Given the description of an element on the screen output the (x, y) to click on. 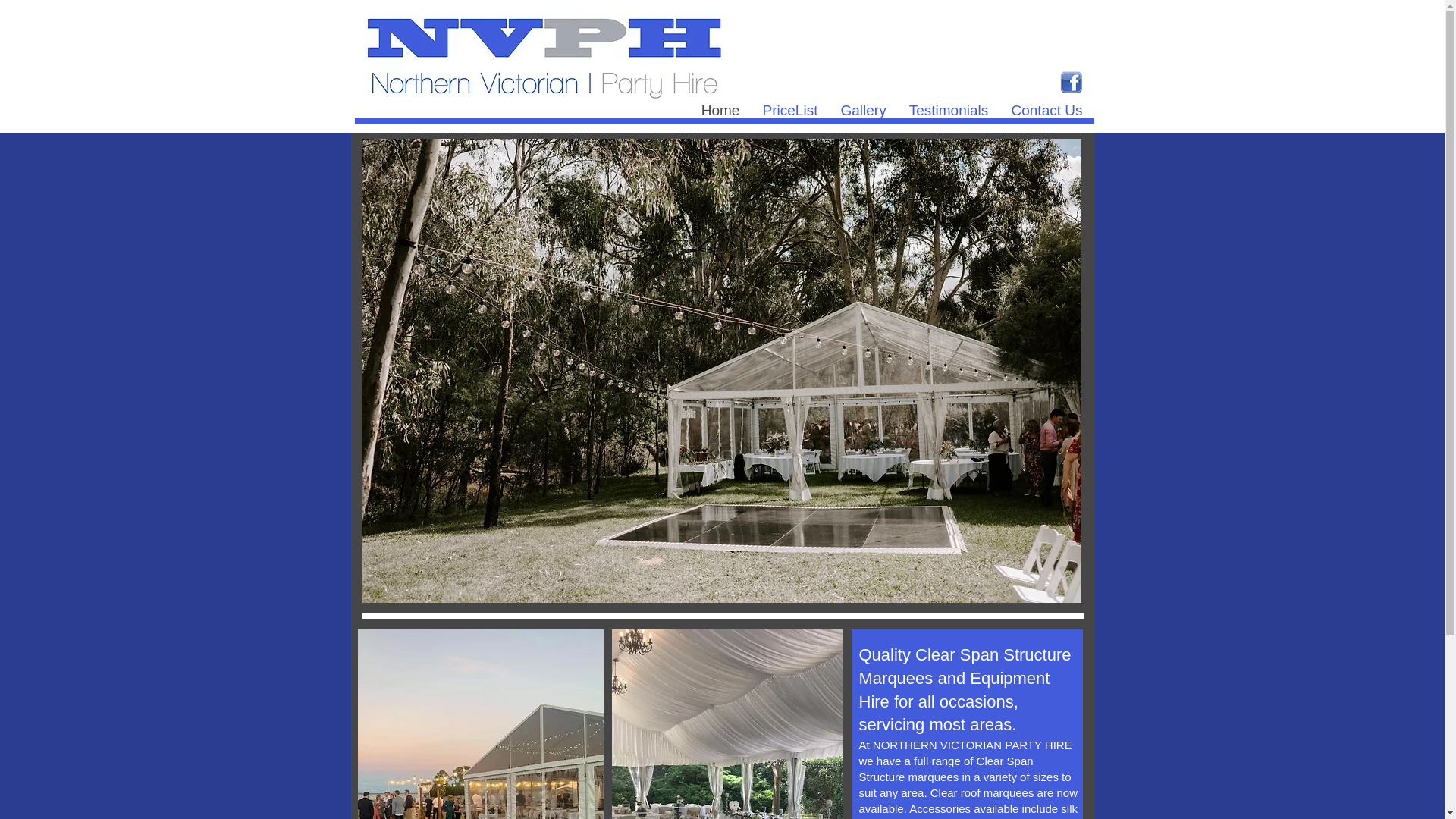
Contact Us Element type: text (1046, 110)
Home Element type: text (720, 110)
Flowerdale.jpg Element type: hover (721, 370)
NVPH party hire marquee tables chairs, equipment rental logo Element type: hover (544, 55)
Gallery Element type: text (863, 110)
PriceList Element type: text (789, 110)
TWIPLA (Visitor Analytics) Element type: hover (183, 342)
Testimonials Element type: text (948, 110)
